Given the description of an element on the screen output the (x, y) to click on. 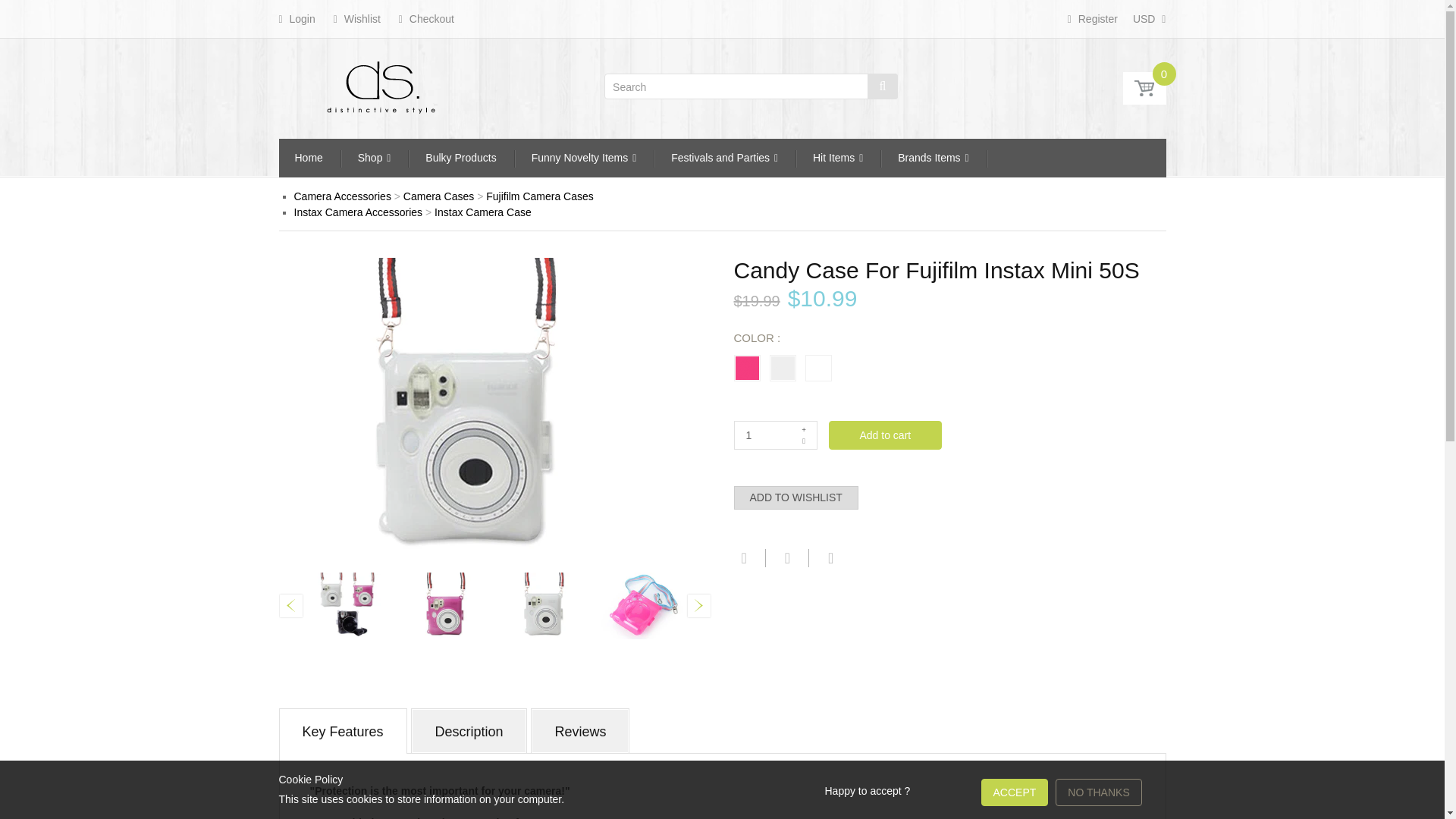
Decrease (803, 440)
Login (297, 18)
cart (1144, 88)
Share an image of this article on Pinterest (785, 557)
Add to wishlist (796, 497)
Wishlist (356, 18)
DS. DISTINCTIVE STYLE (380, 85)
Google (829, 557)
Register (1092, 18)
Facebook (742, 557)
Increase (803, 428)
1 (774, 434)
